Given the description of an element on the screen output the (x, y) to click on. 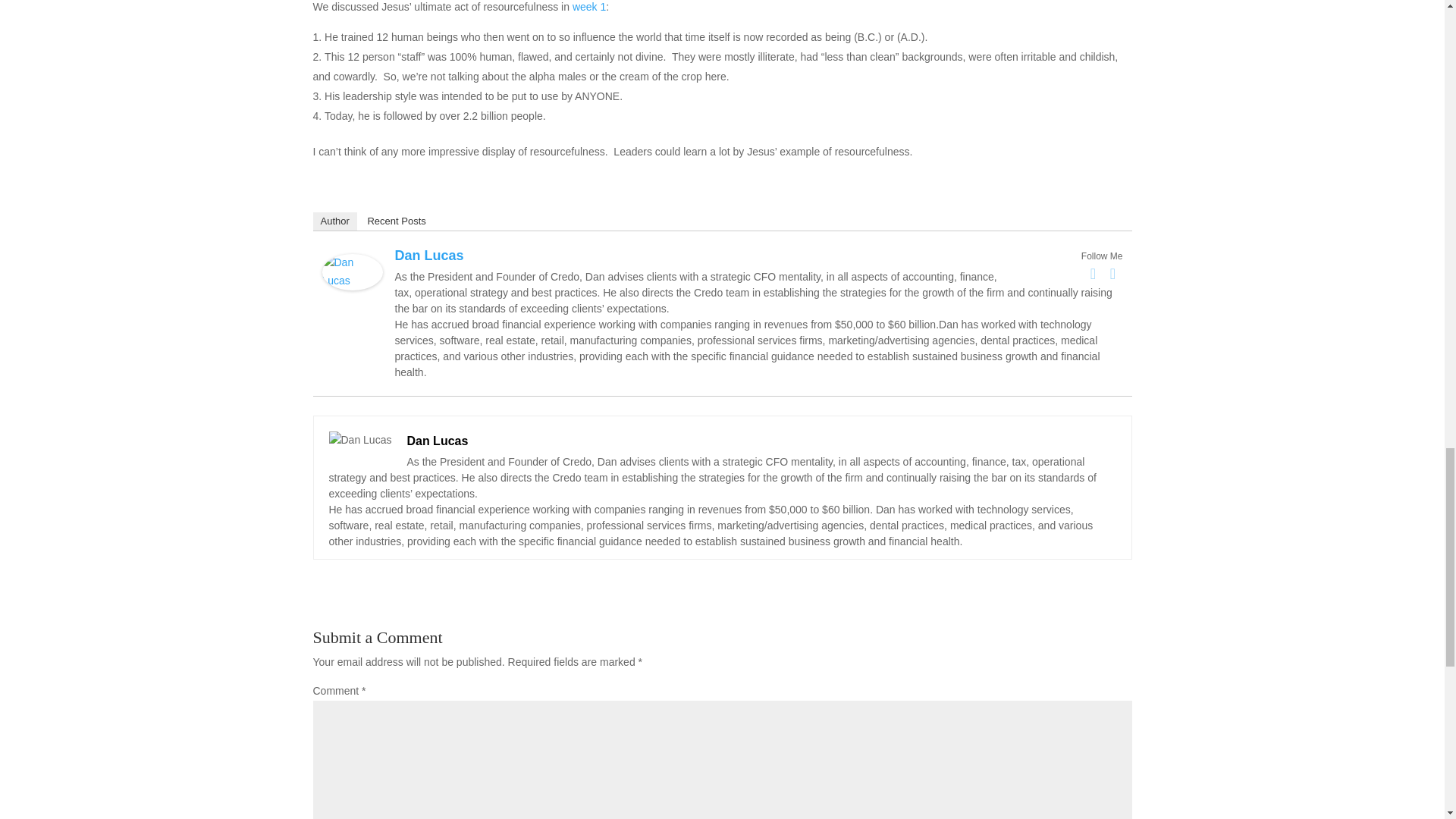
week 1 (588, 6)
Dan Lucas (351, 280)
Dan Lucas (428, 255)
Twitter (1112, 273)
Recent Posts (395, 221)
Author (334, 221)
Facebook (1093, 273)
